Given the description of an element on the screen output the (x, y) to click on. 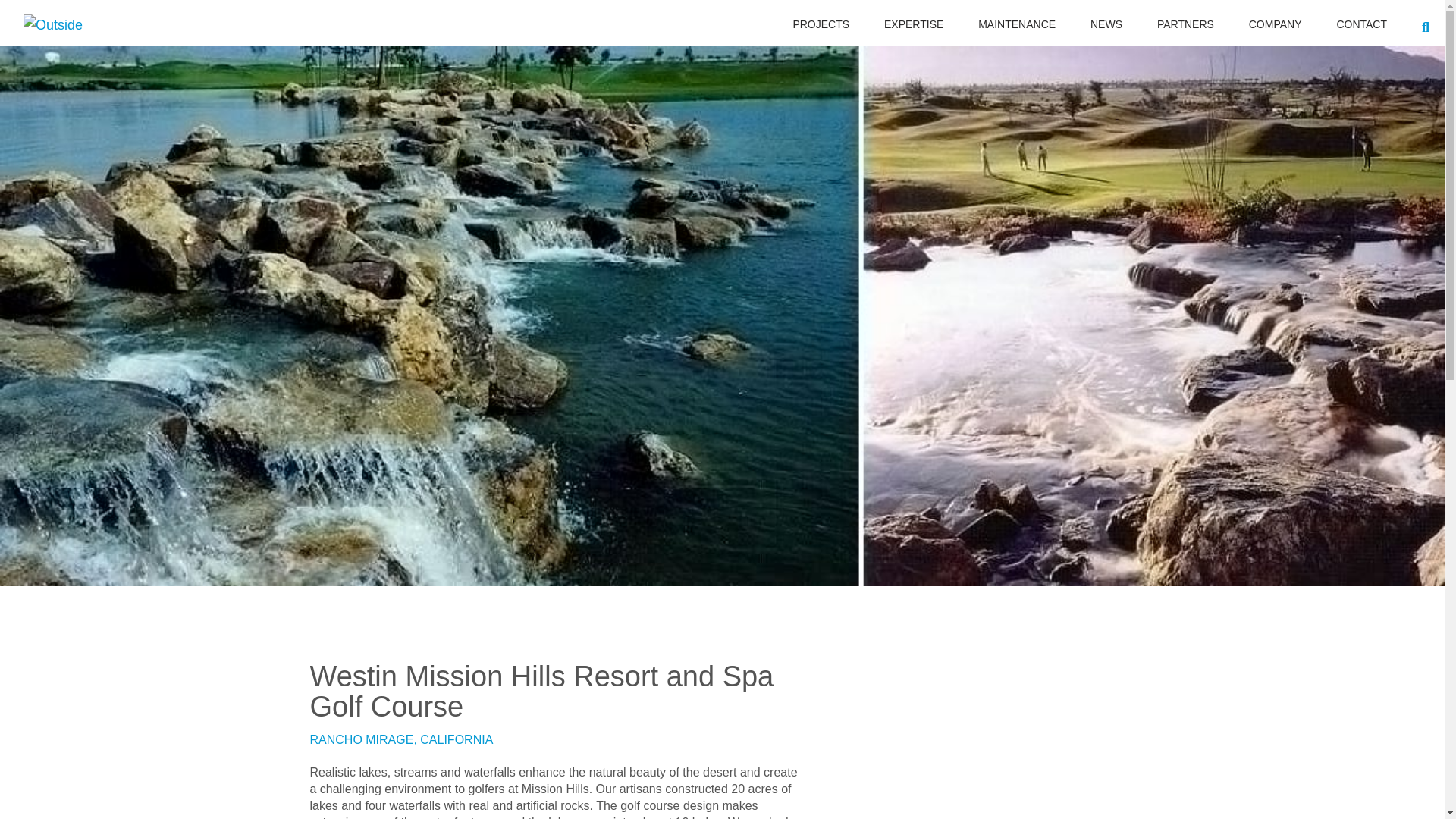
COMPANY (1275, 22)
PARTNERS (1185, 22)
EXPERTISE (913, 22)
NEWS (1106, 22)
PROJECTS (820, 22)
CONTACT (1361, 22)
MAINTENANCE (1016, 22)
